Given the description of an element on the screen output the (x, y) to click on. 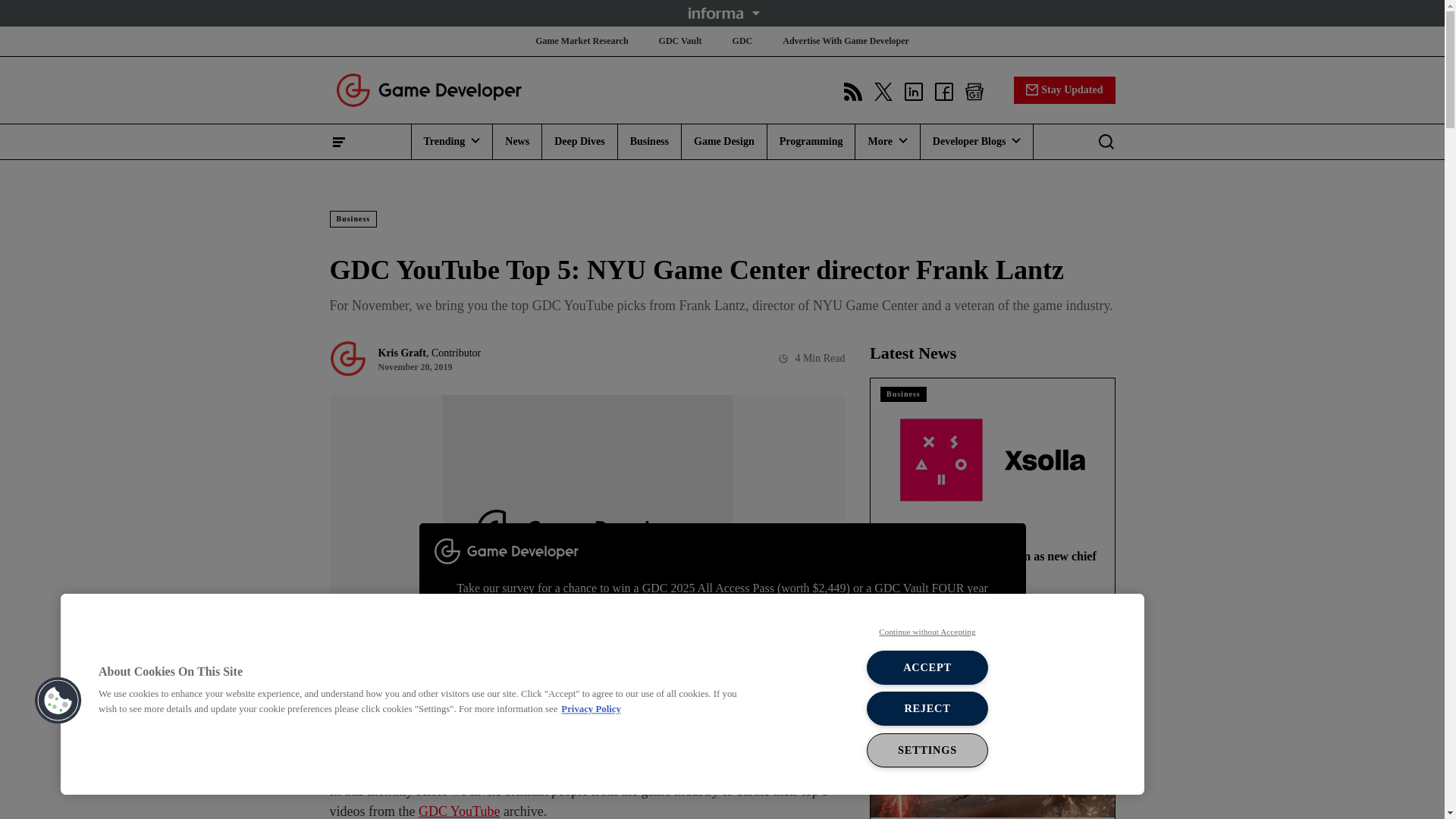
Stay Updated (1064, 89)
Cookies Button (57, 700)
Game Market Research (581, 41)
Picture of Kris Graft (347, 358)
Business (649, 141)
Programming (810, 141)
Game Developer Logo (428, 90)
Deep Dives (579, 141)
GDC Vault (680, 41)
Game Design (724, 141)
News (517, 141)
GDC (742, 41)
Advertise With Game Developer (845, 41)
